Given the description of an element on the screen output the (x, y) to click on. 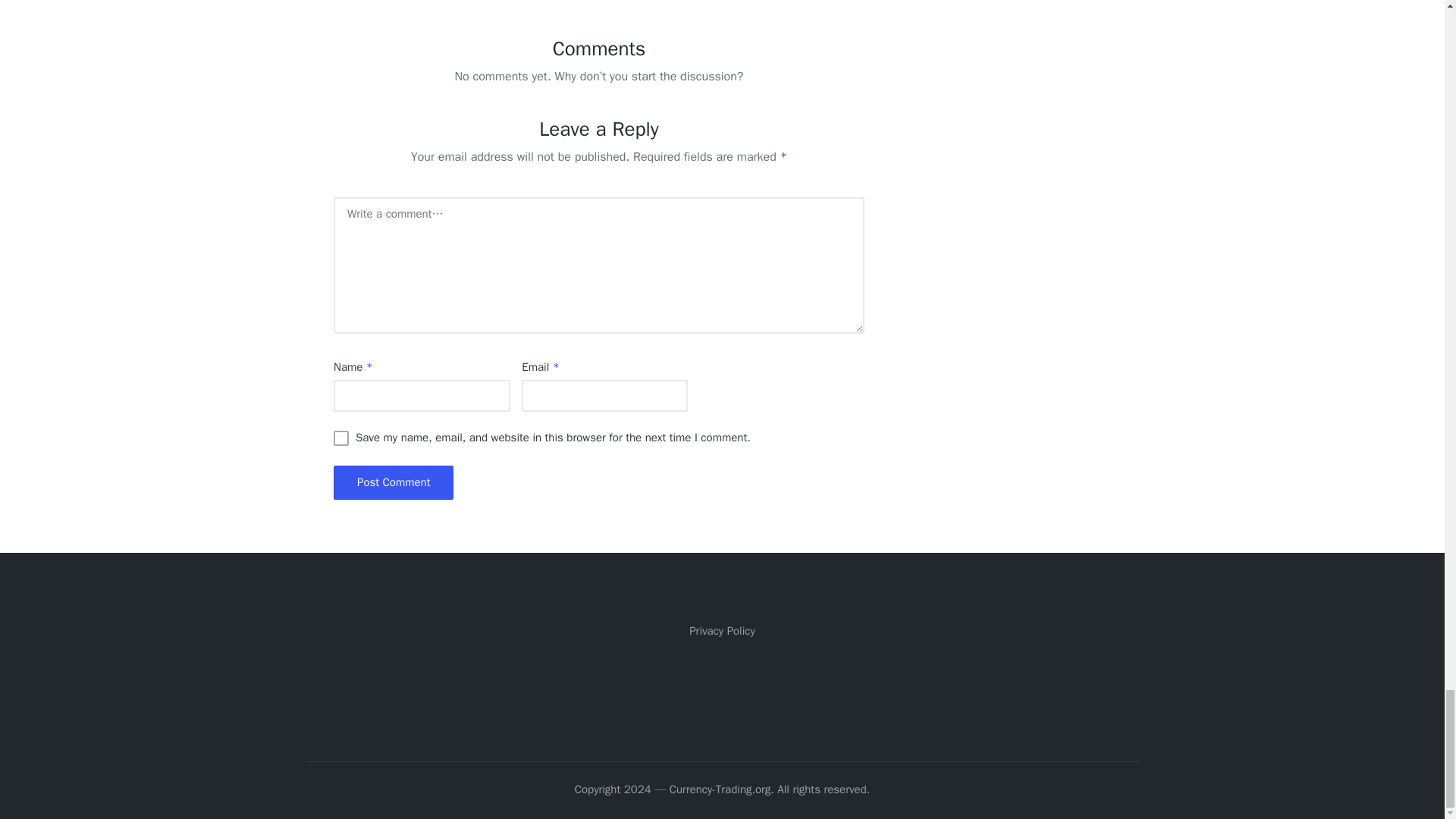
yes (341, 437)
DMCA.com Protection Status (722, 687)
Post Comment (392, 482)
Post Comment (392, 482)
